Given the description of an element on the screen output the (x, y) to click on. 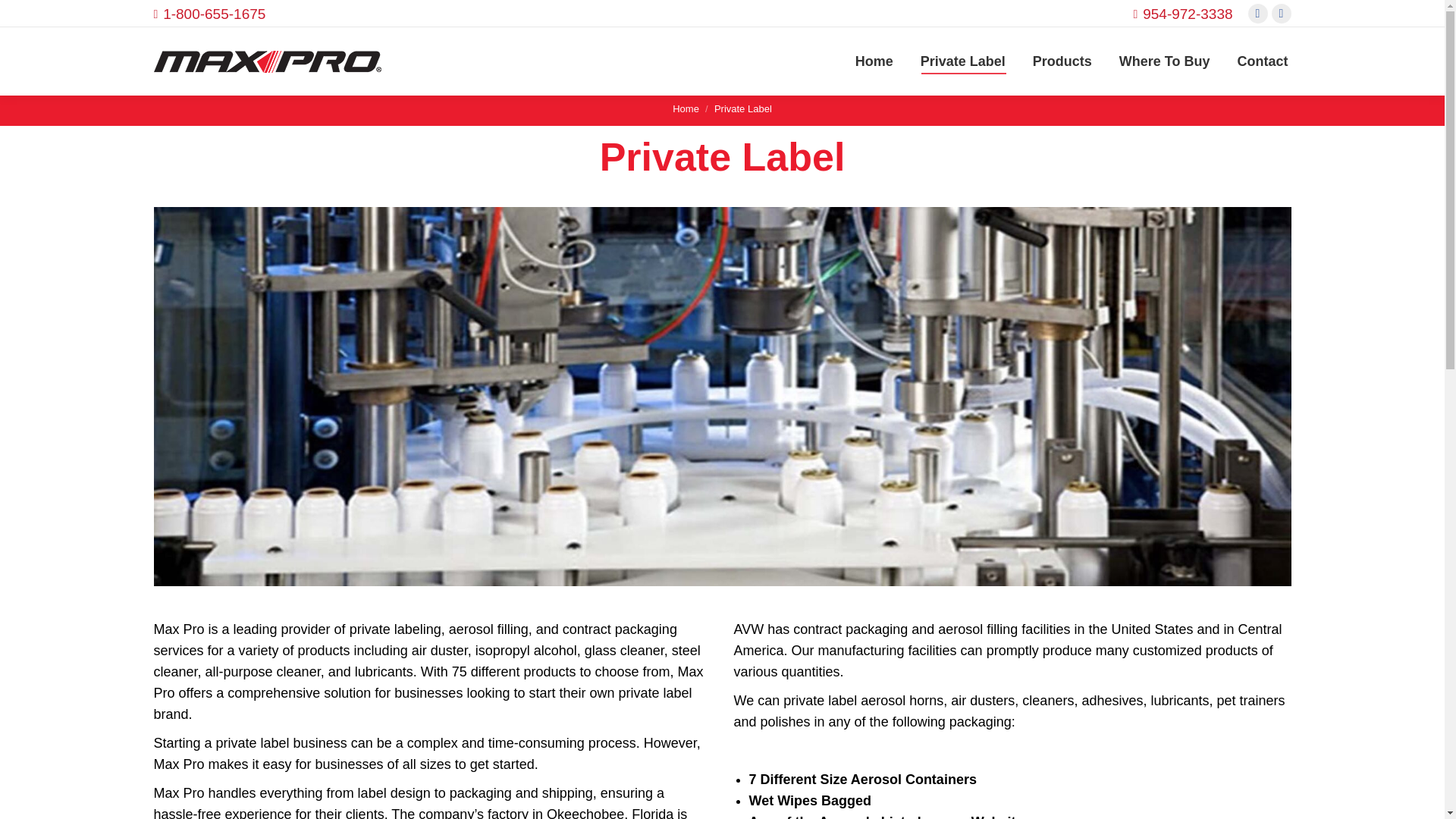
Products (1061, 60)
Facebook page opens in new window (1257, 13)
Home (685, 108)
Home (685, 108)
1-800-655-1675 (213, 13)
Instagram page opens in new window (1281, 13)
Home (873, 60)
Contact (1262, 60)
954-972-3338 (1186, 13)
Where To Buy (1164, 60)
Instagram page opens in new window (1281, 13)
Facebook page opens in new window (1257, 13)
Private Label (963, 60)
